Given the description of an element on the screen output the (x, y) to click on. 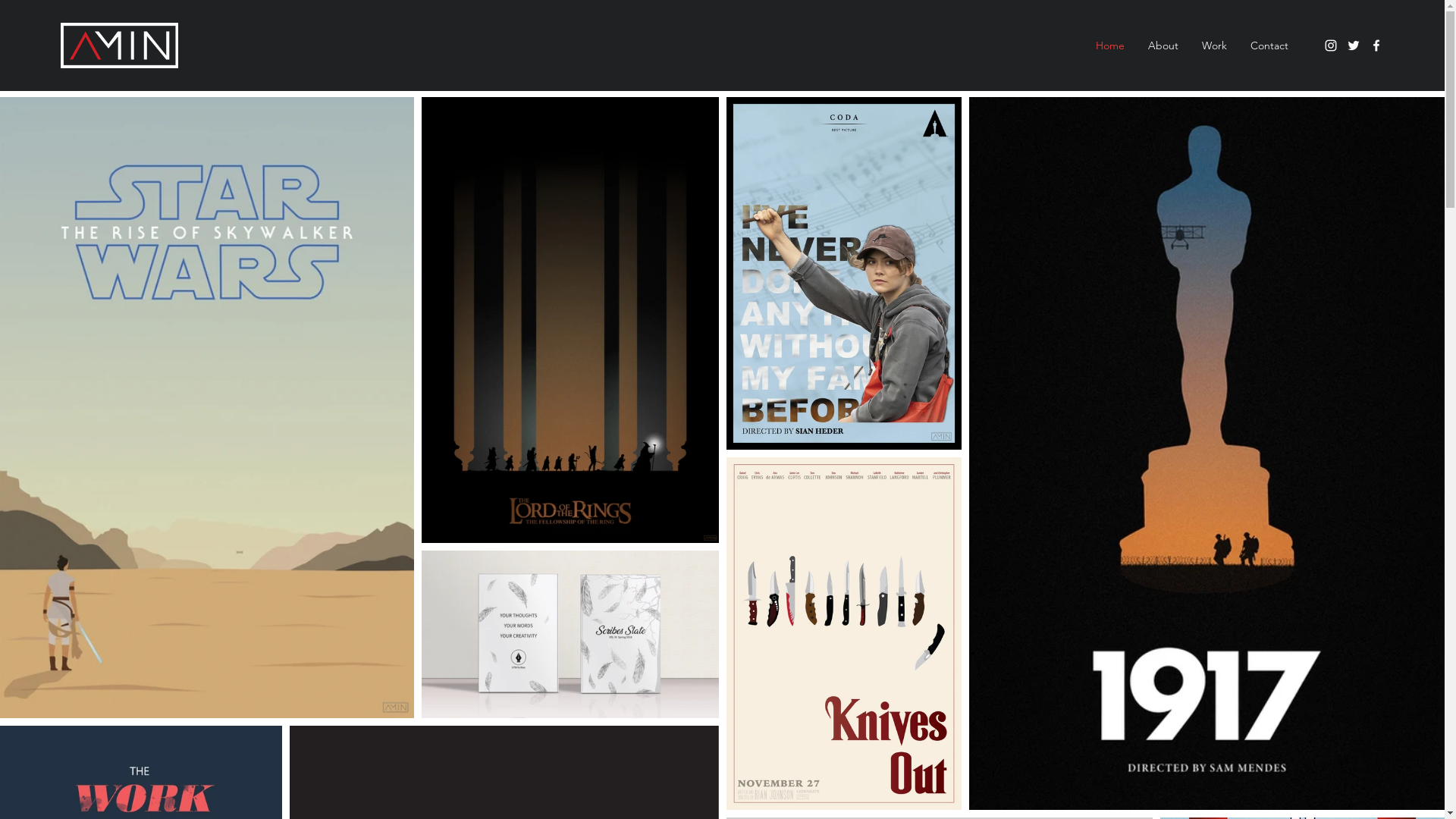
Work Element type: text (1214, 45)
Contact Element type: text (1269, 45)
About Element type: text (1162, 45)
Home Element type: text (1109, 45)
